Given the description of an element on the screen output the (x, y) to click on. 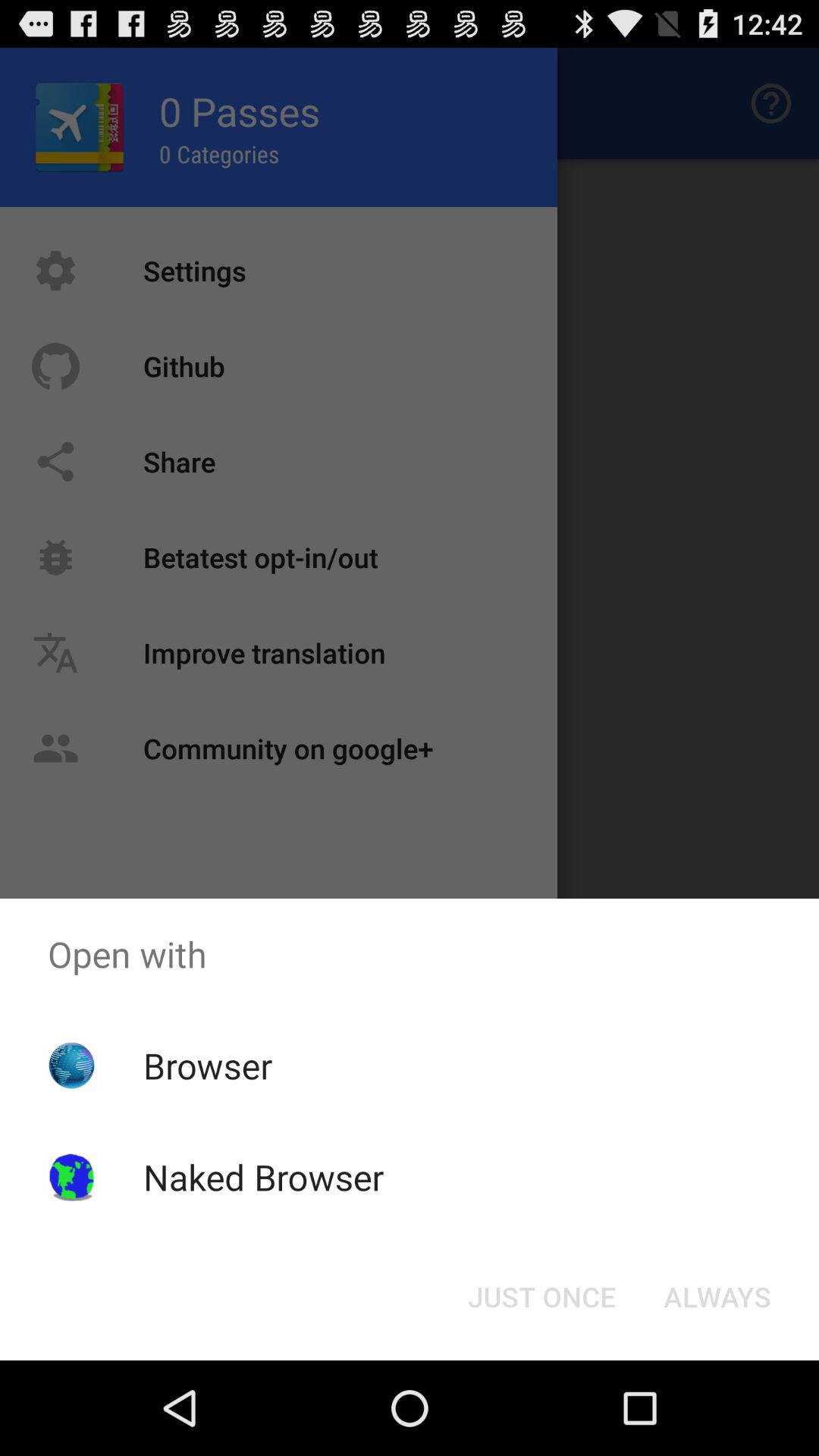
press the item to the right of just once button (717, 1296)
